Given the description of an element on the screen output the (x, y) to click on. 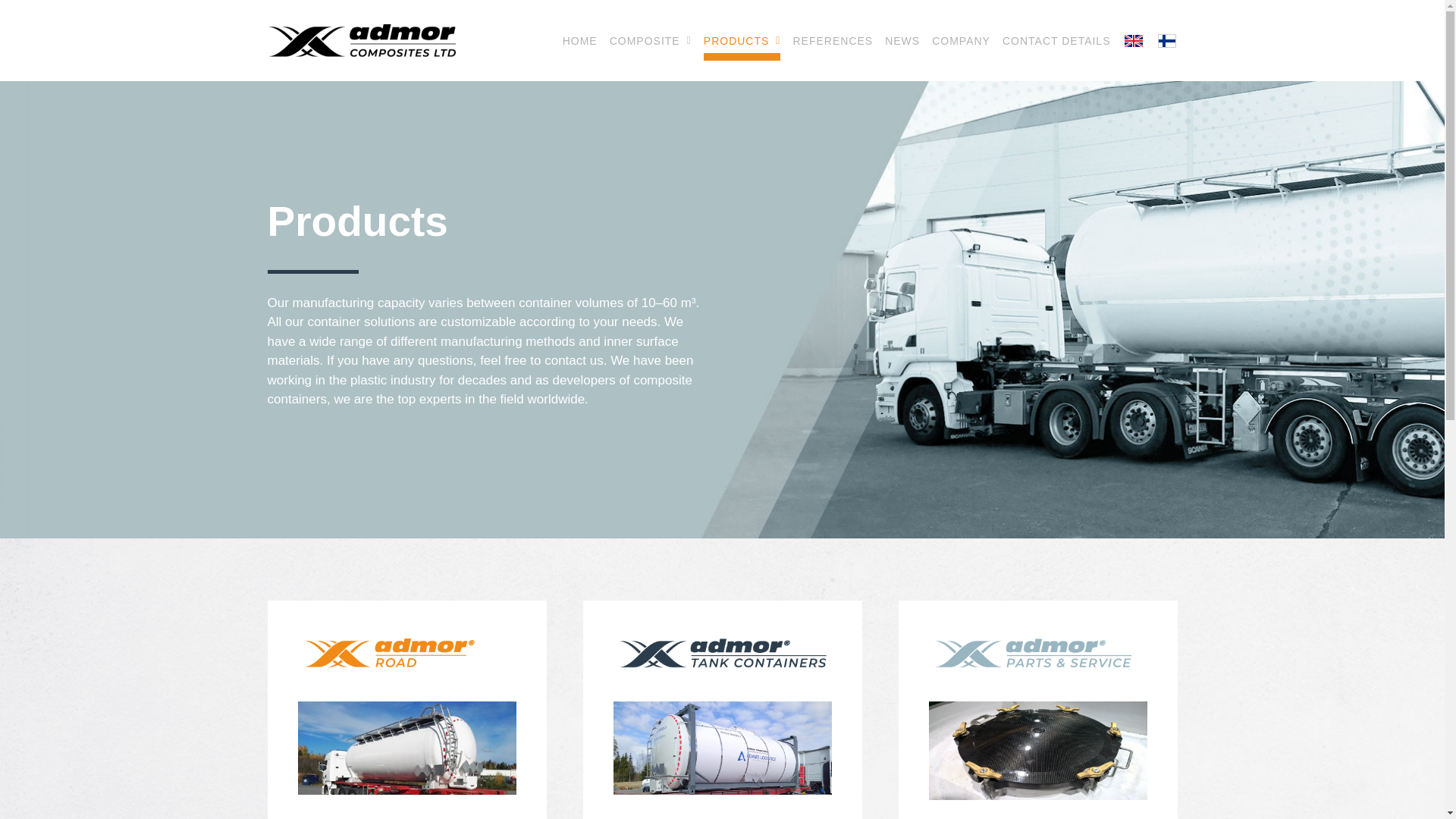
COMPOSITE (650, 40)
REFERENCES (832, 40)
CONTACT DETAILS (1056, 40)
PRODUCTS (741, 40)
